Given the description of an element on the screen output the (x, y) to click on. 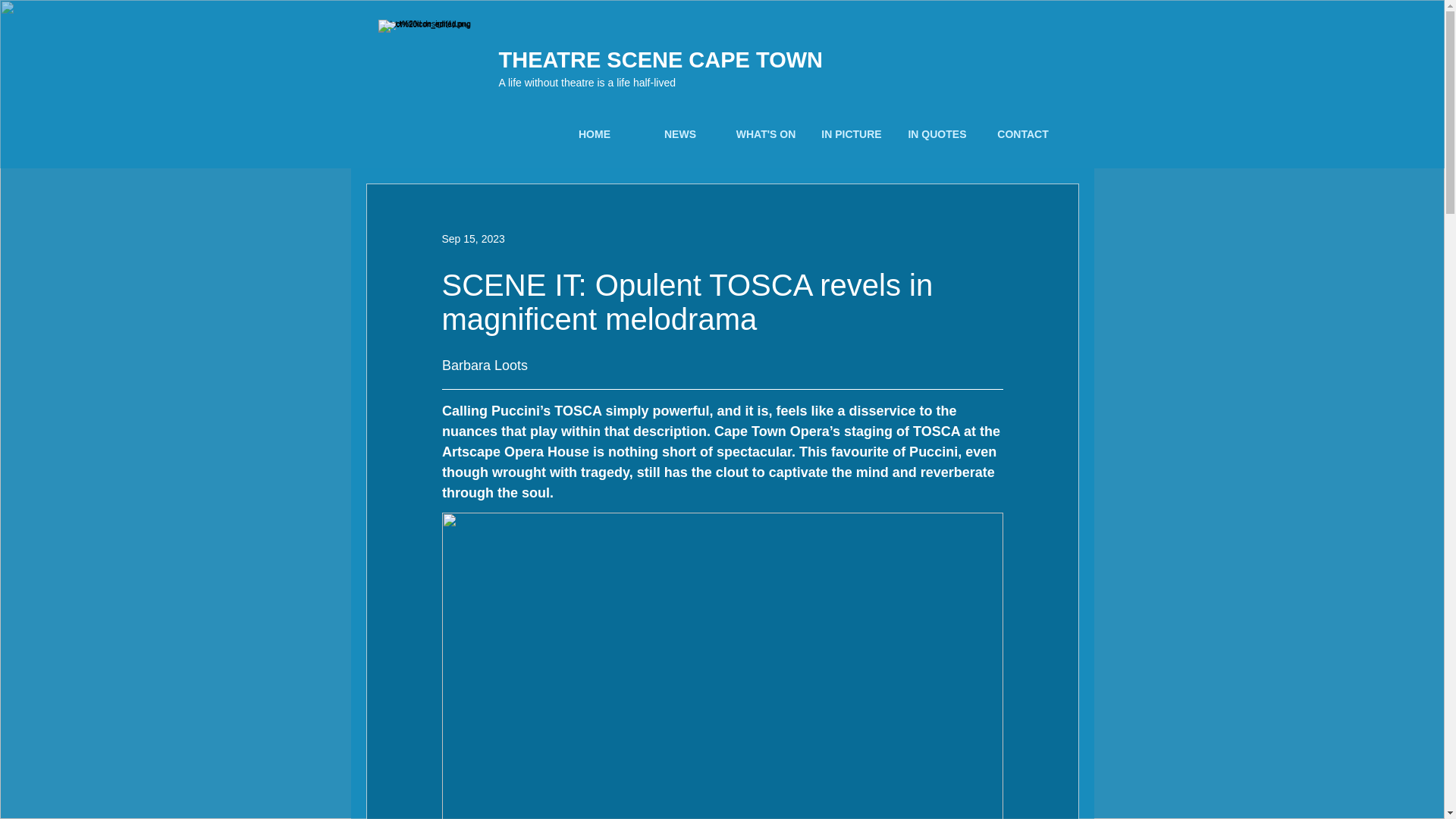
HOME (594, 134)
CONTACT (1022, 134)
IN PICTURE (850, 134)
IN QUOTES (937, 134)
THEATRE SCENE CAPE TOWN (661, 59)
NEWS (679, 134)
A life without theatre is a life half-lived (587, 82)
WHAT'S ON (766, 134)
Sep 15, 2023 (472, 237)
